Given the description of an element on the screen output the (x, y) to click on. 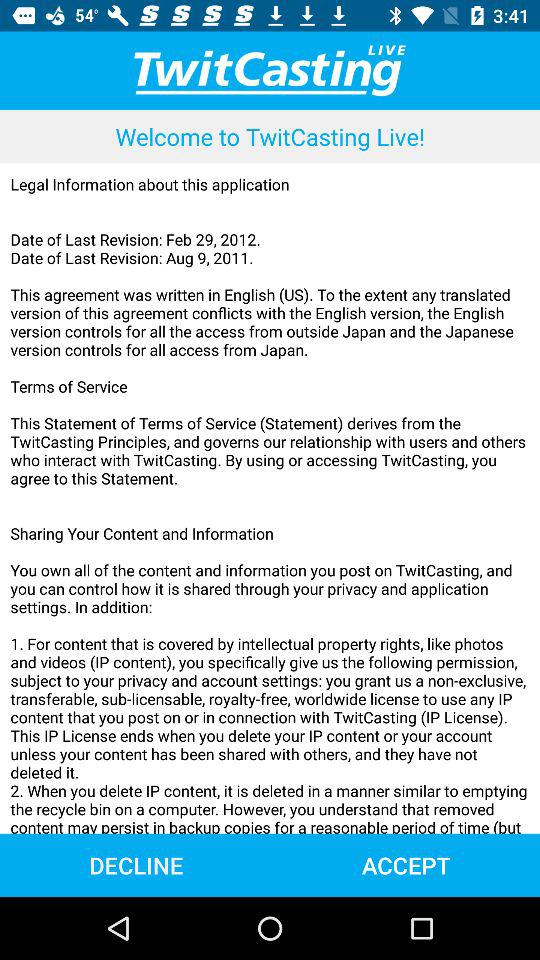
turn on the item to the right of the decline (406, 864)
